Given the description of an element on the screen output the (x, y) to click on. 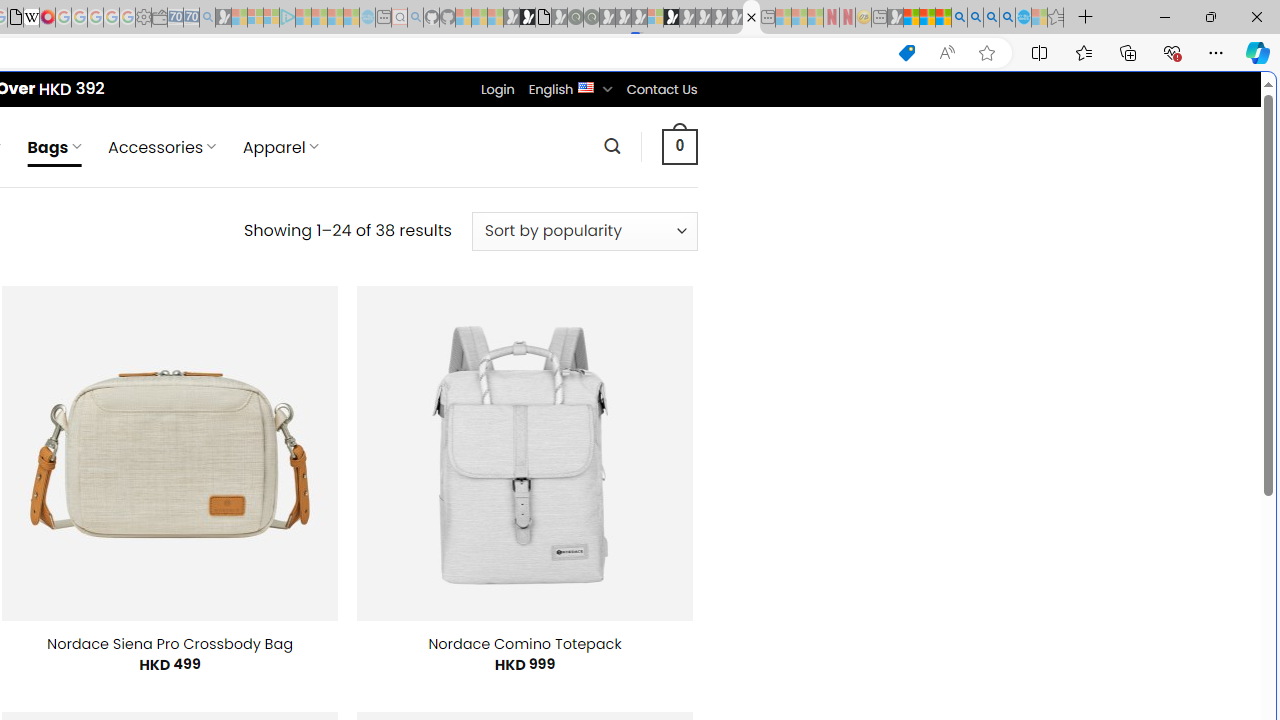
Target page - Wikipedia (31, 17)
Search or enter web address (343, 191)
Frequently visited (418, 265)
